Given the description of an element on the screen output the (x, y) to click on. 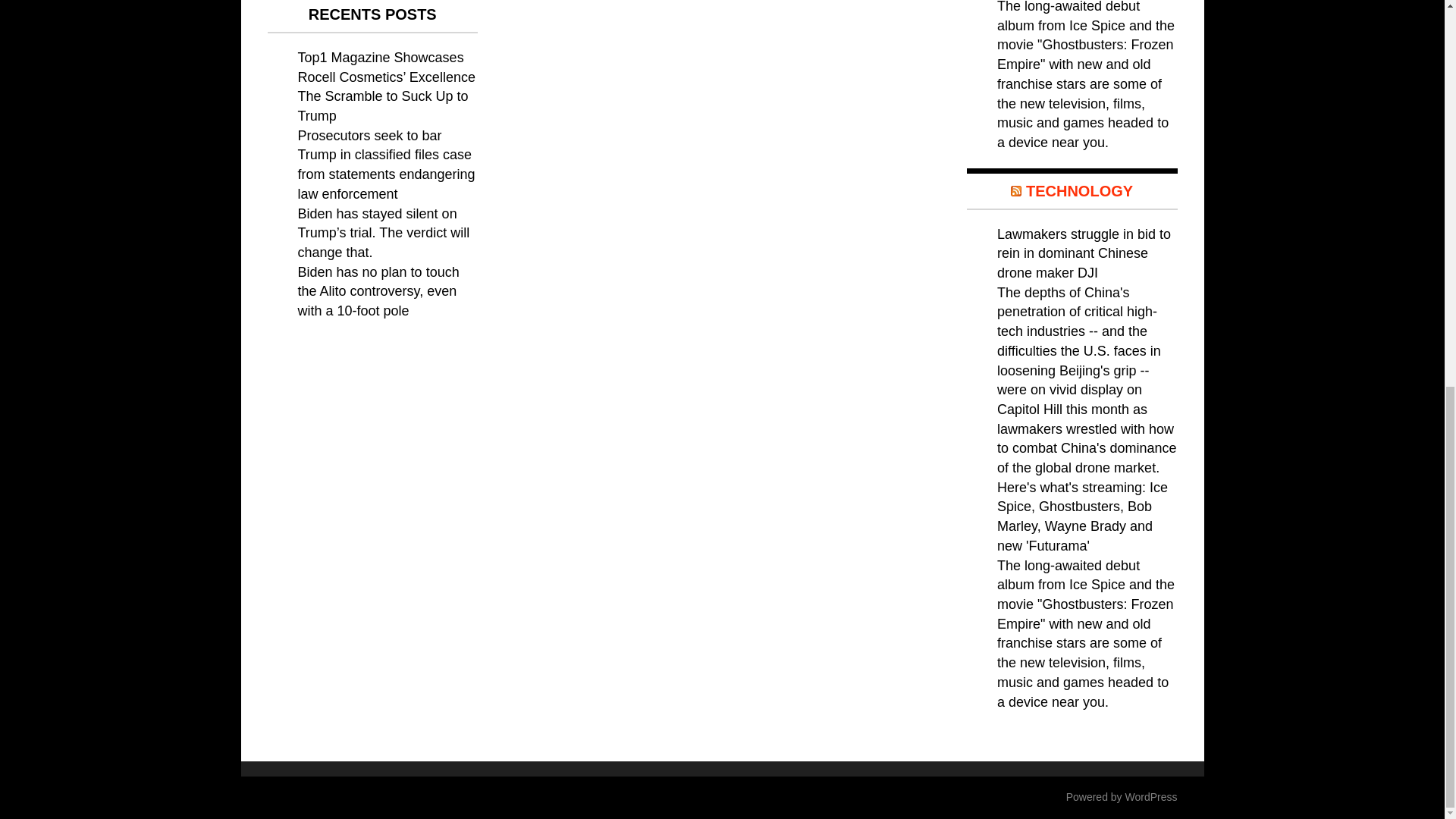
TECHNOLOGY (1079, 190)
The Scramble to Suck Up to Trump (382, 105)
WordPress (1151, 797)
